Given the description of an element on the screen output the (x, y) to click on. 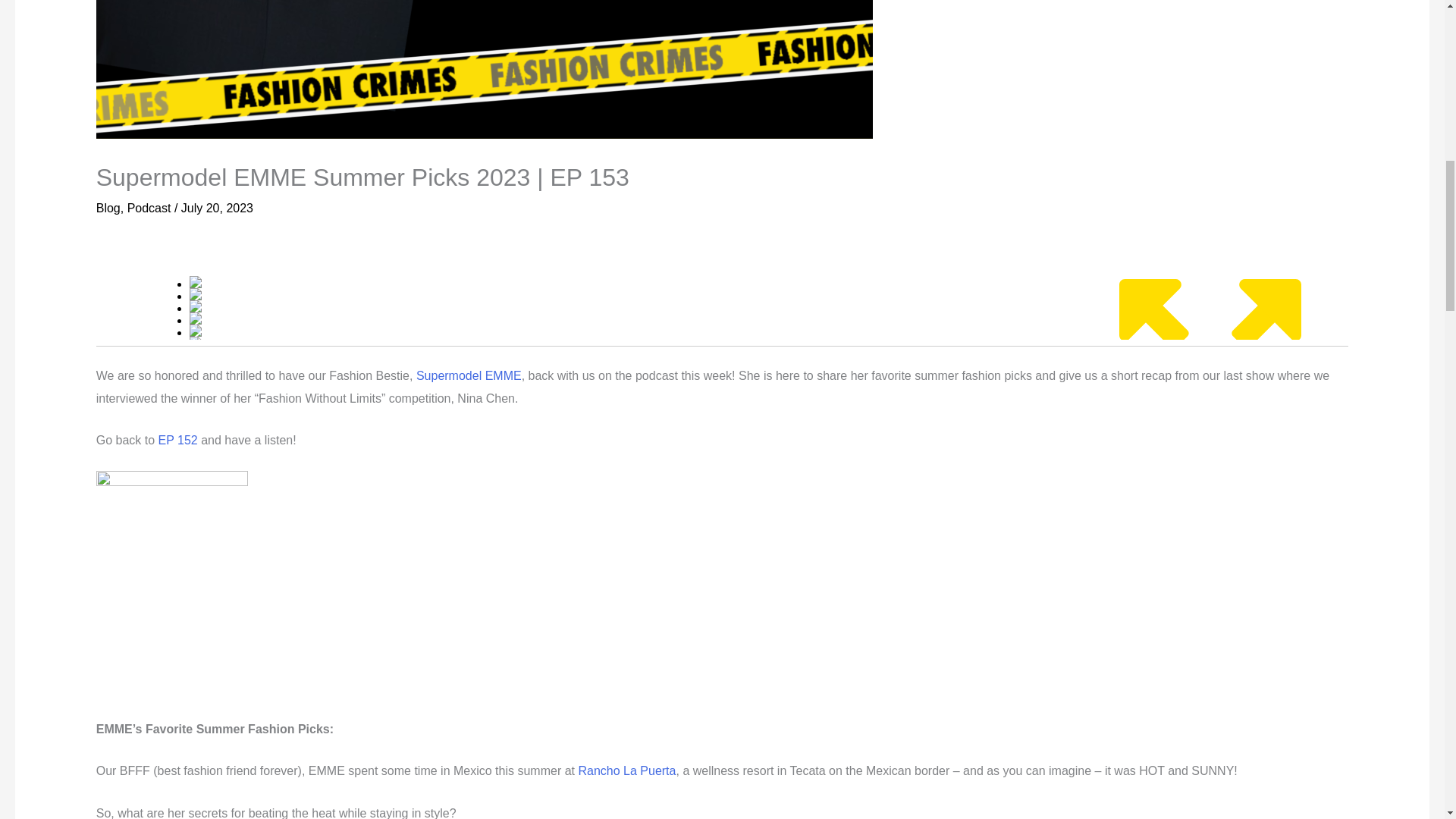
Supermodel EMME (468, 375)
Podcast (149, 207)
EP 152 (178, 440)
Blog (108, 207)
Rancho La Puerta (626, 770)
